Given the description of an element on the screen output the (x, y) to click on. 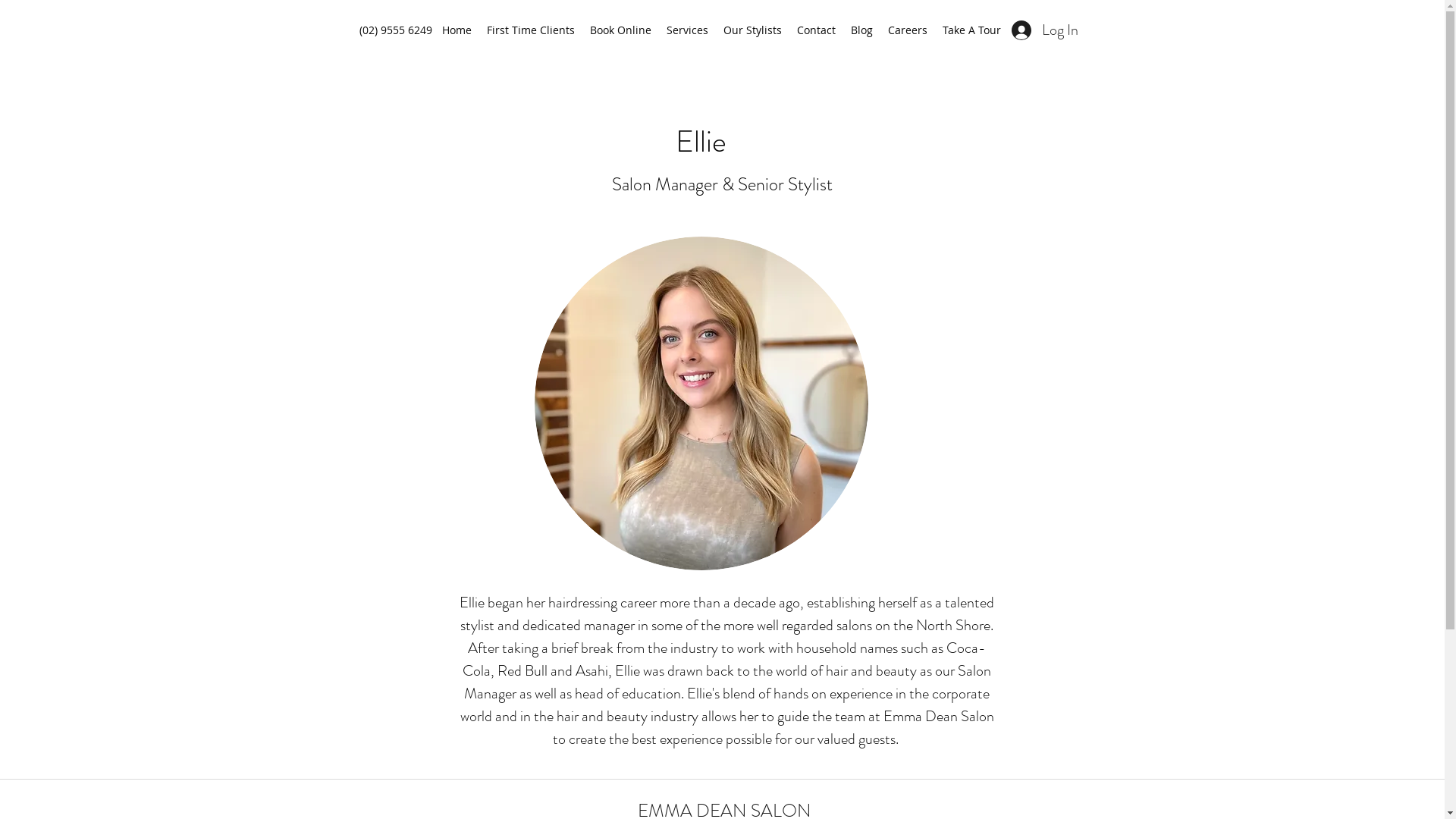
First Time Clients Element type: text (530, 29)
Home Element type: text (455, 29)
Book Online Element type: text (620, 29)
Contact Element type: text (815, 29)
Services Element type: text (686, 29)
Log In Element type: text (1044, 29)
Our Stylists Element type: text (752, 29)
Careers Element type: text (906, 29)
Blog Element type: text (861, 29)
Take A Tour Element type: text (970, 29)
